Given the description of an element on the screen output the (x, y) to click on. 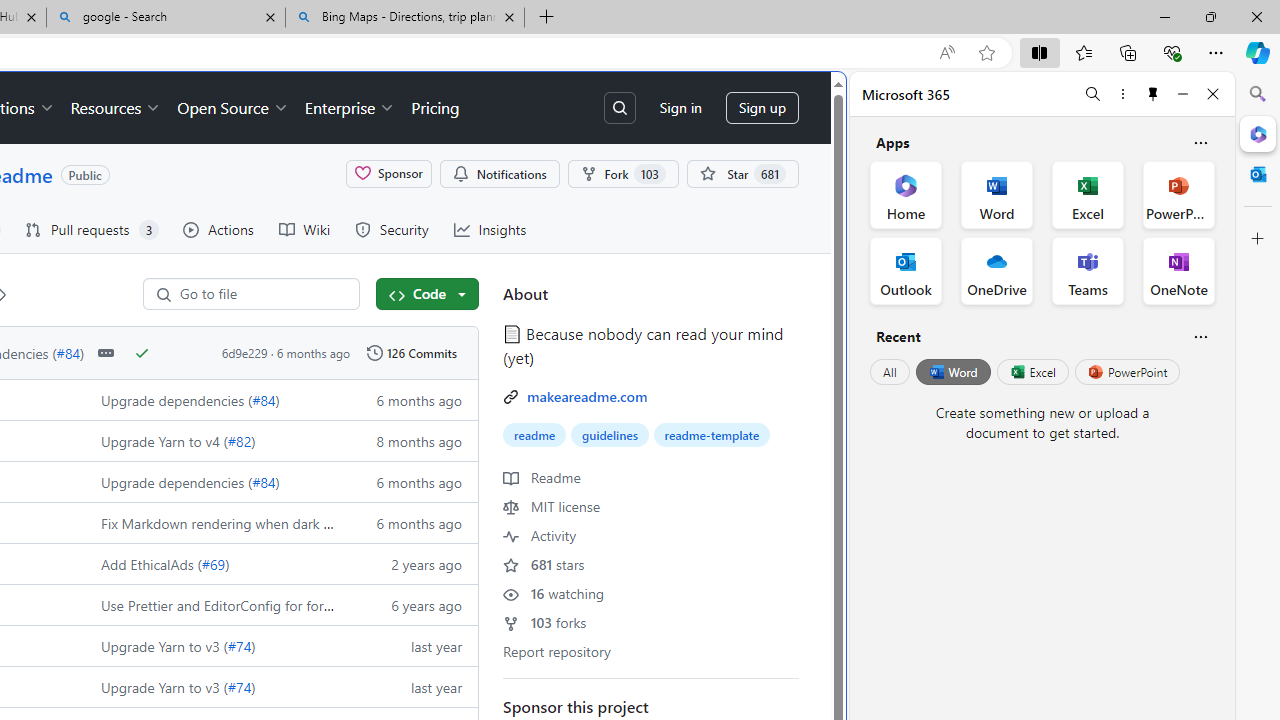
OneDrive Office App (996, 270)
 Star 681 (742, 173)
Fix Markdown rendering when dark mode is on ( (250, 522)
Resources (115, 107)
Upgrade dependencies (#84) (212, 480)
Insights (490, 229)
681 stars (543, 563)
6 years ago (409, 603)
Fork 103 (622, 173)
All (890, 372)
success (142, 353)
